Given the description of an element on the screen output the (x, y) to click on. 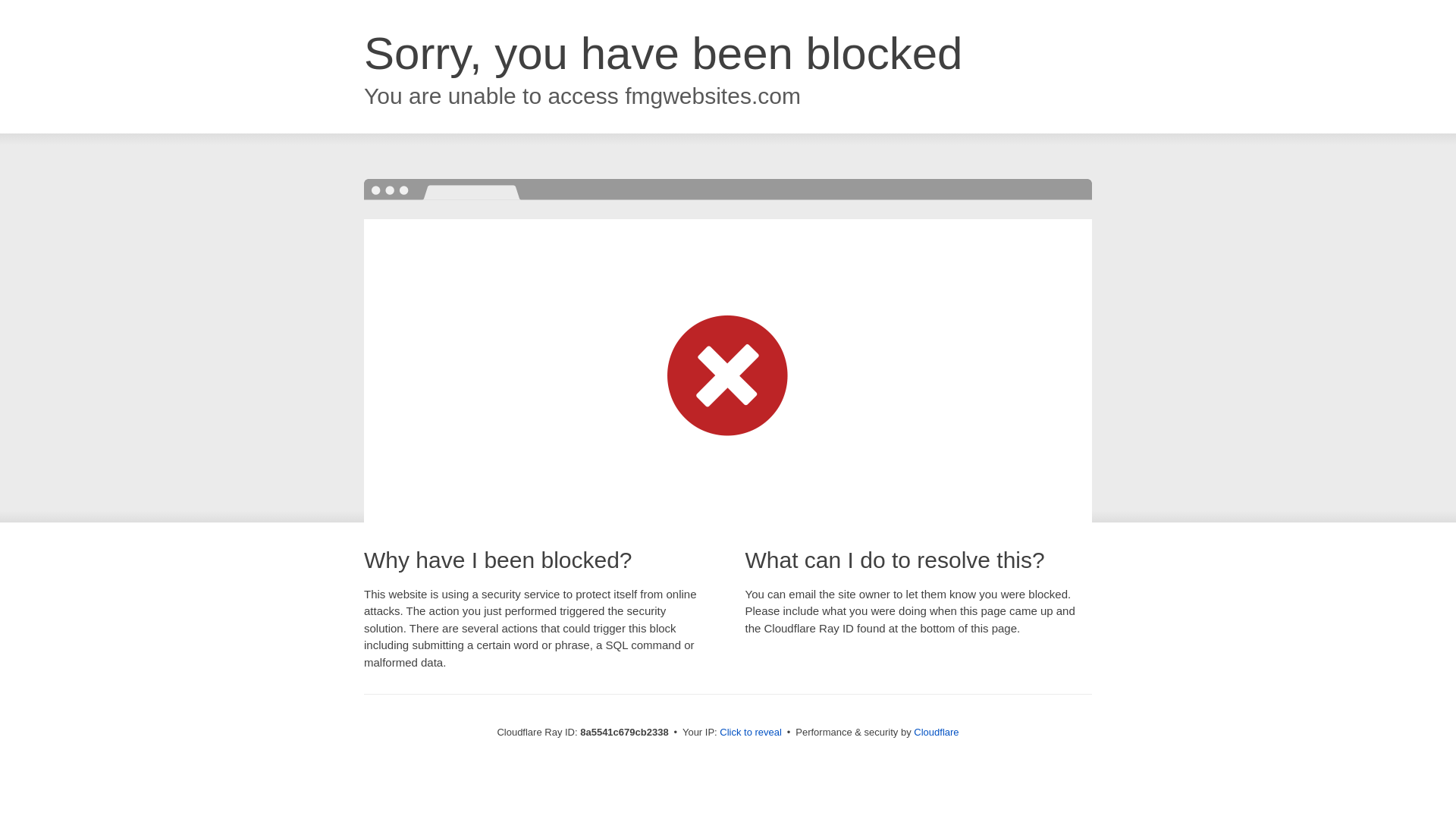
Cloudflare (936, 731)
Click to reveal (750, 732)
